Given the description of an element on the screen output the (x, y) to click on. 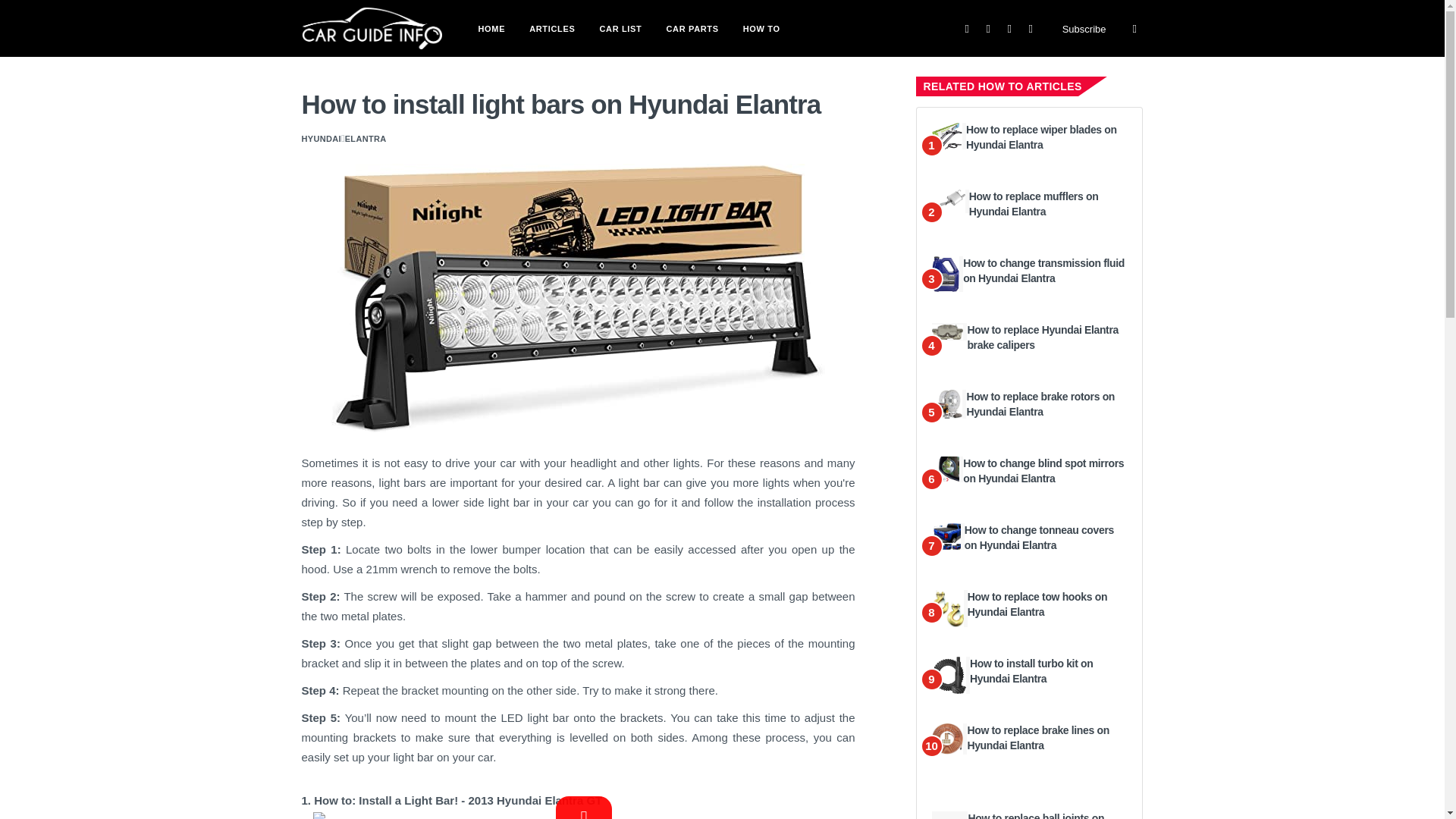
How to change transmission fluid on Hyundai Elantra (1043, 270)
How to replace mufflers on Hyundai Elantra (1034, 203)
How to replace wiper blades on Hyundai Elantra (1041, 136)
HOME (490, 27)
ELANTRA (366, 137)
Subscribe (1084, 28)
HOW TO (761, 27)
HYUNDAI (320, 137)
CAR PARTS (691, 27)
How to replace Hyundai Elantra brake calipers (1042, 337)
